Given the description of an element on the screen output the (x, y) to click on. 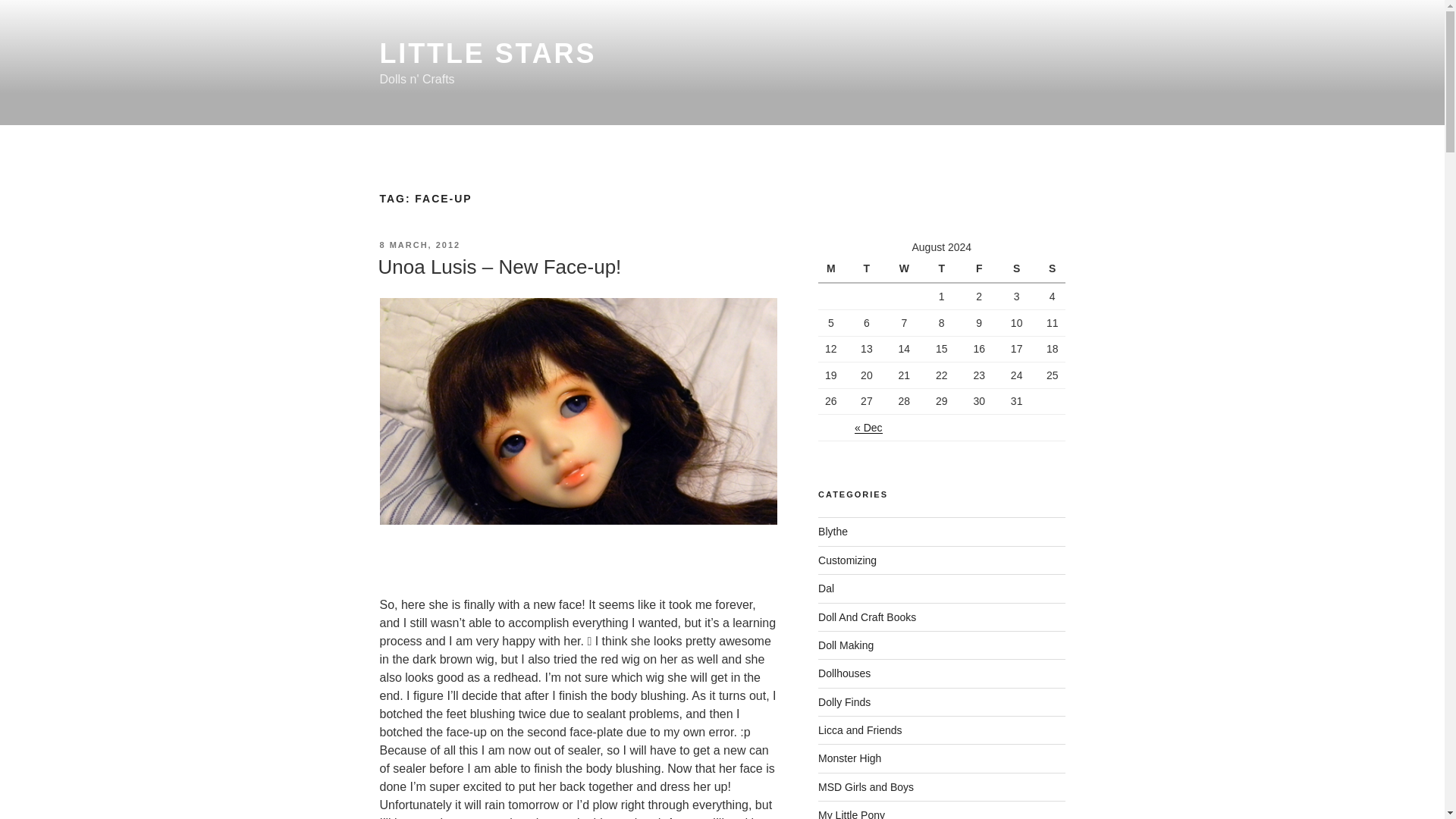
Licca and Friends (860, 729)
LITTLE STARS (486, 52)
8 MARCH, 2012 (419, 244)
My Little Pony (851, 814)
Sunday (1049, 268)
lusisnewface01 (577, 438)
Dolly Finds (844, 702)
MSD Girls and Boys (866, 787)
Monday (832, 268)
